Given the description of an element on the screen output the (x, y) to click on. 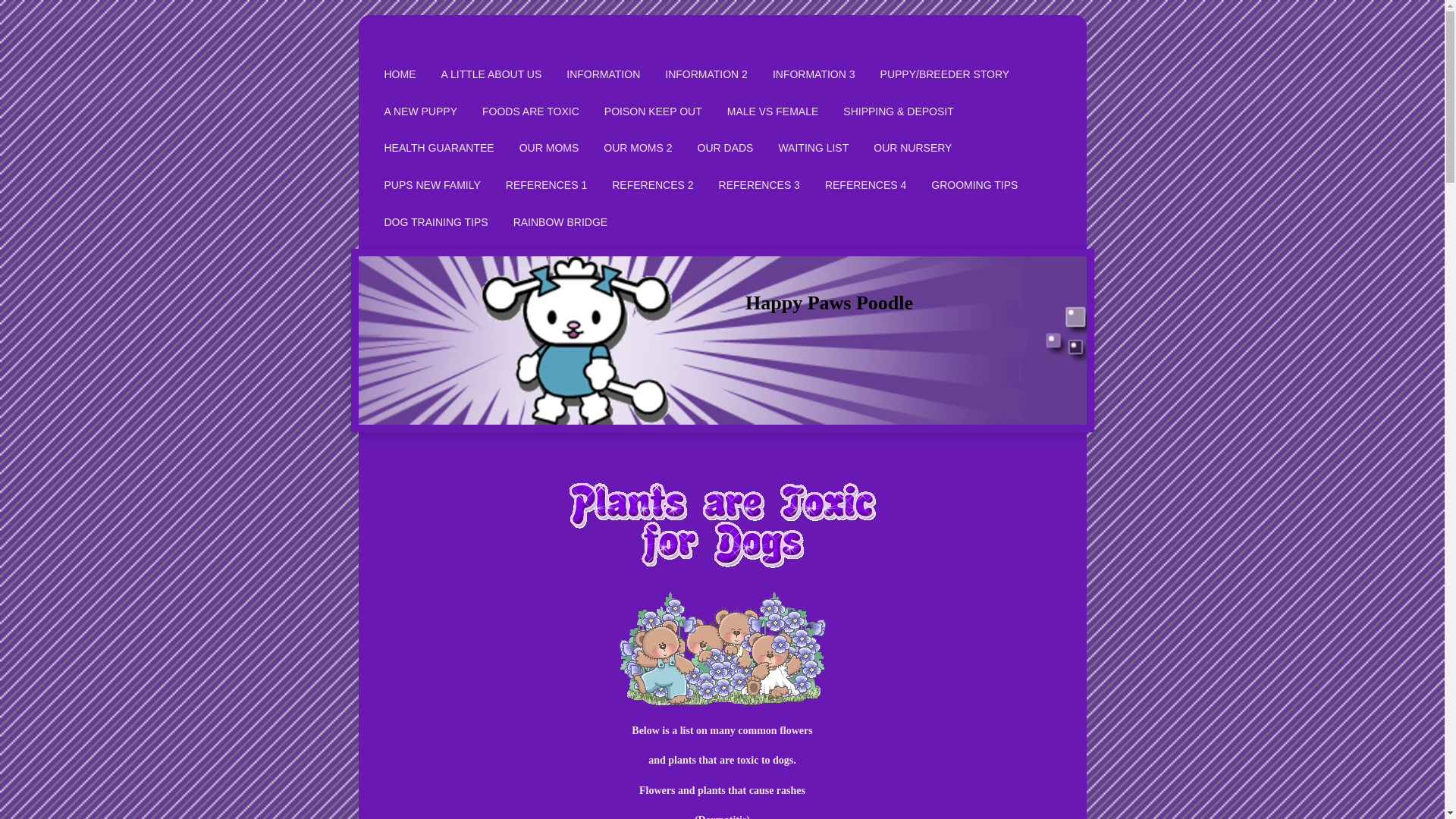
Happy Paws Poodle (828, 301)
HOME (399, 75)
